Given the description of an element on the screen output the (x, y) to click on. 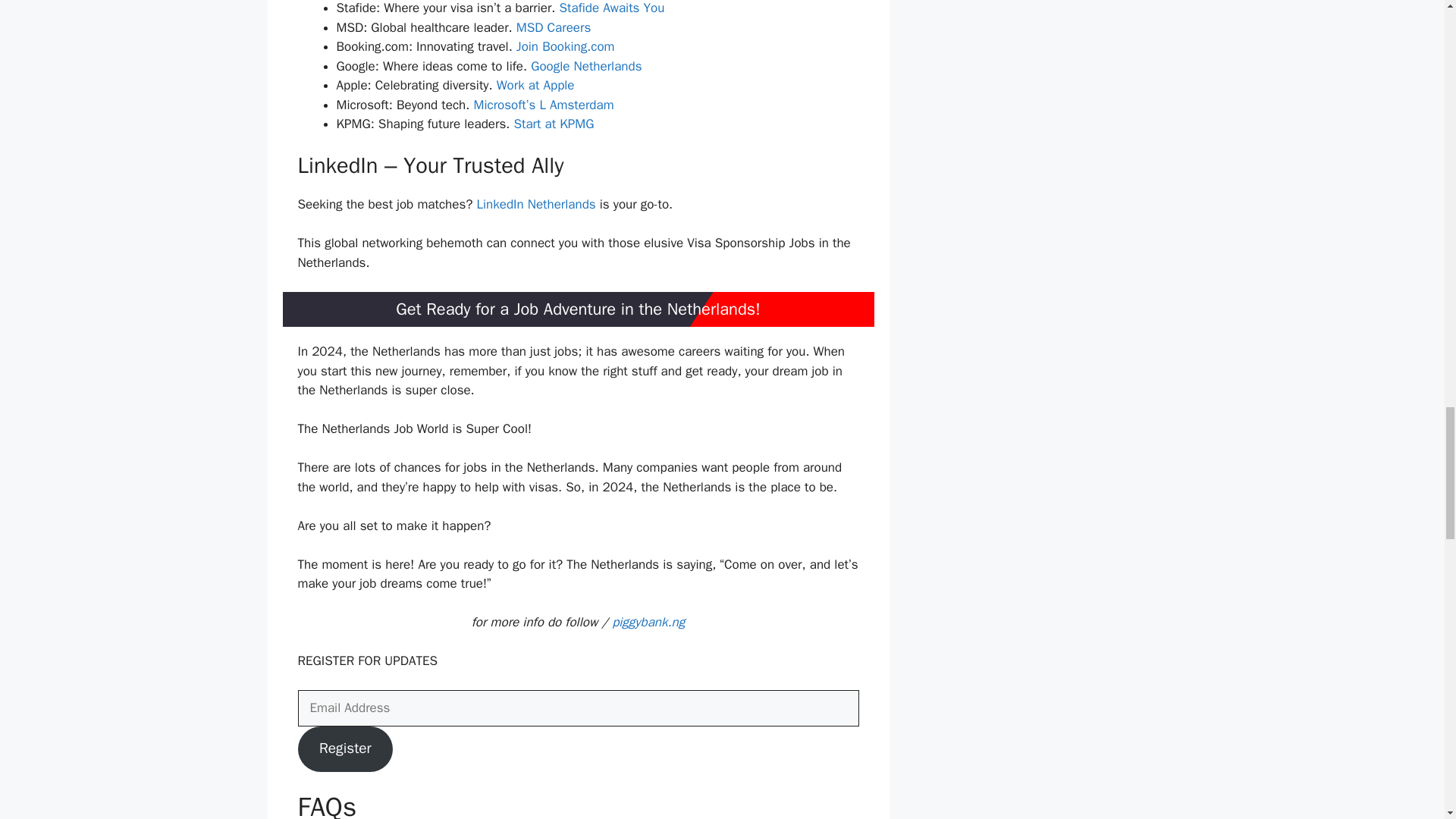
Start at KPMG (553, 123)
Google Netherlands (586, 66)
Join Booking.com (565, 46)
Register (345, 749)
LinkedIn Netherlands (535, 204)
MSD Careers (553, 27)
Work at Apple (535, 84)
Stafide Awaits You (612, 7)
piggybank.ng (647, 621)
